Given the description of an element on the screen output the (x, y) to click on. 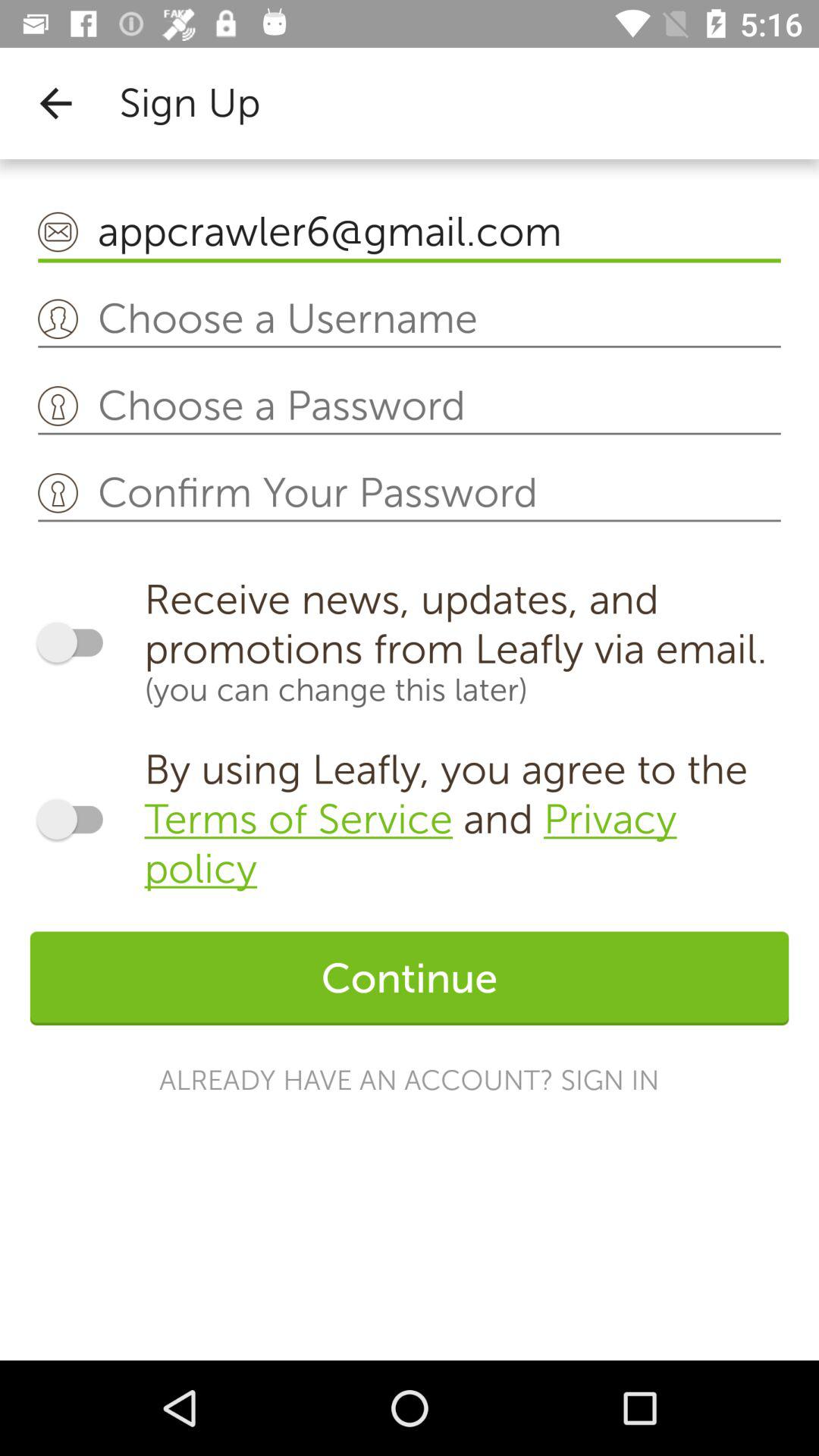
box of text escribe username (409, 319)
